Given the description of an element on the screen output the (x, y) to click on. 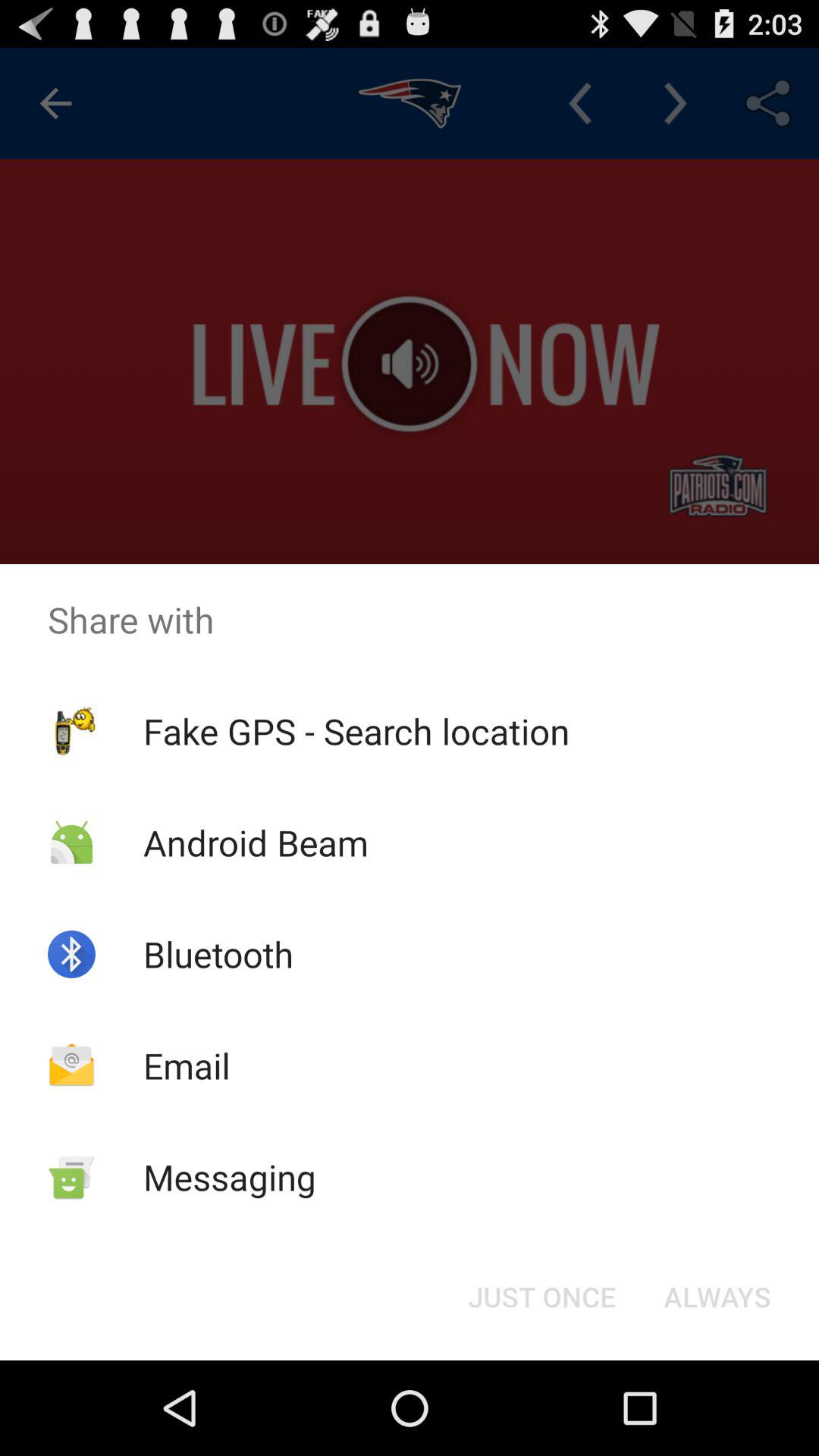
press icon above bluetooth item (255, 842)
